Given the description of an element on the screen output the (x, y) to click on. 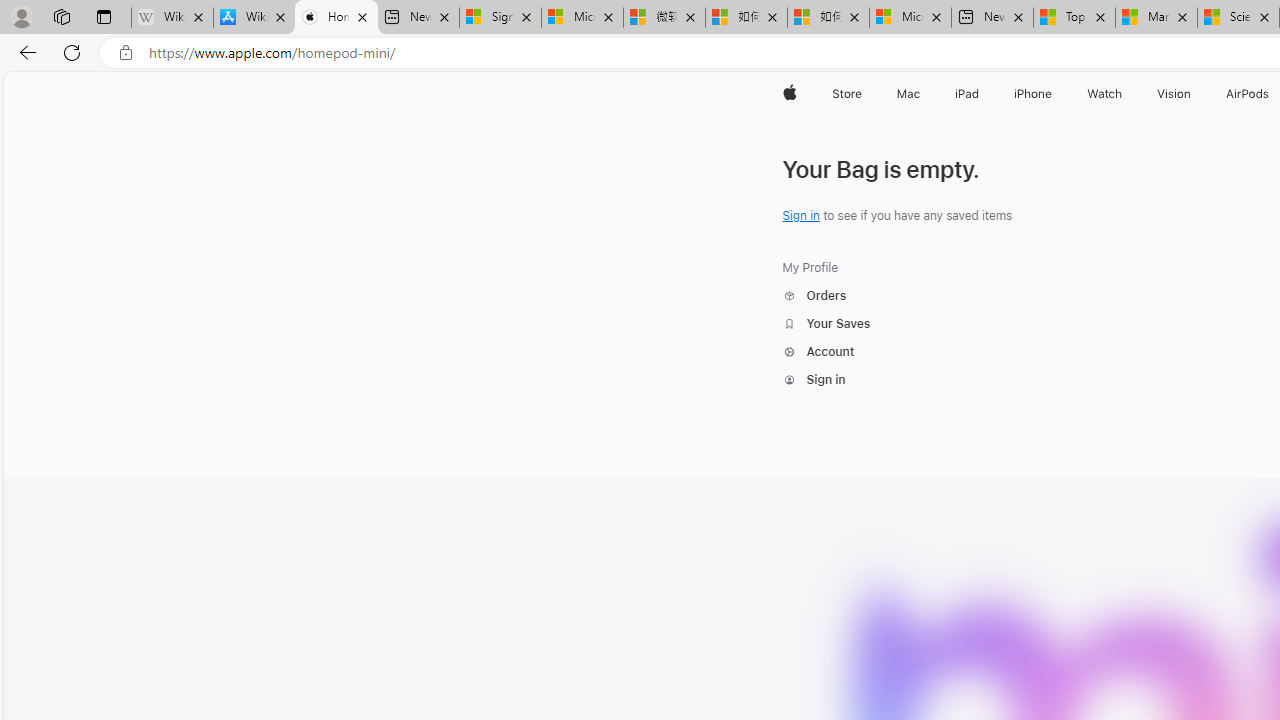
Store (846, 93)
iPad (965, 93)
